Given the description of an element on the screen output the (x, y) to click on. 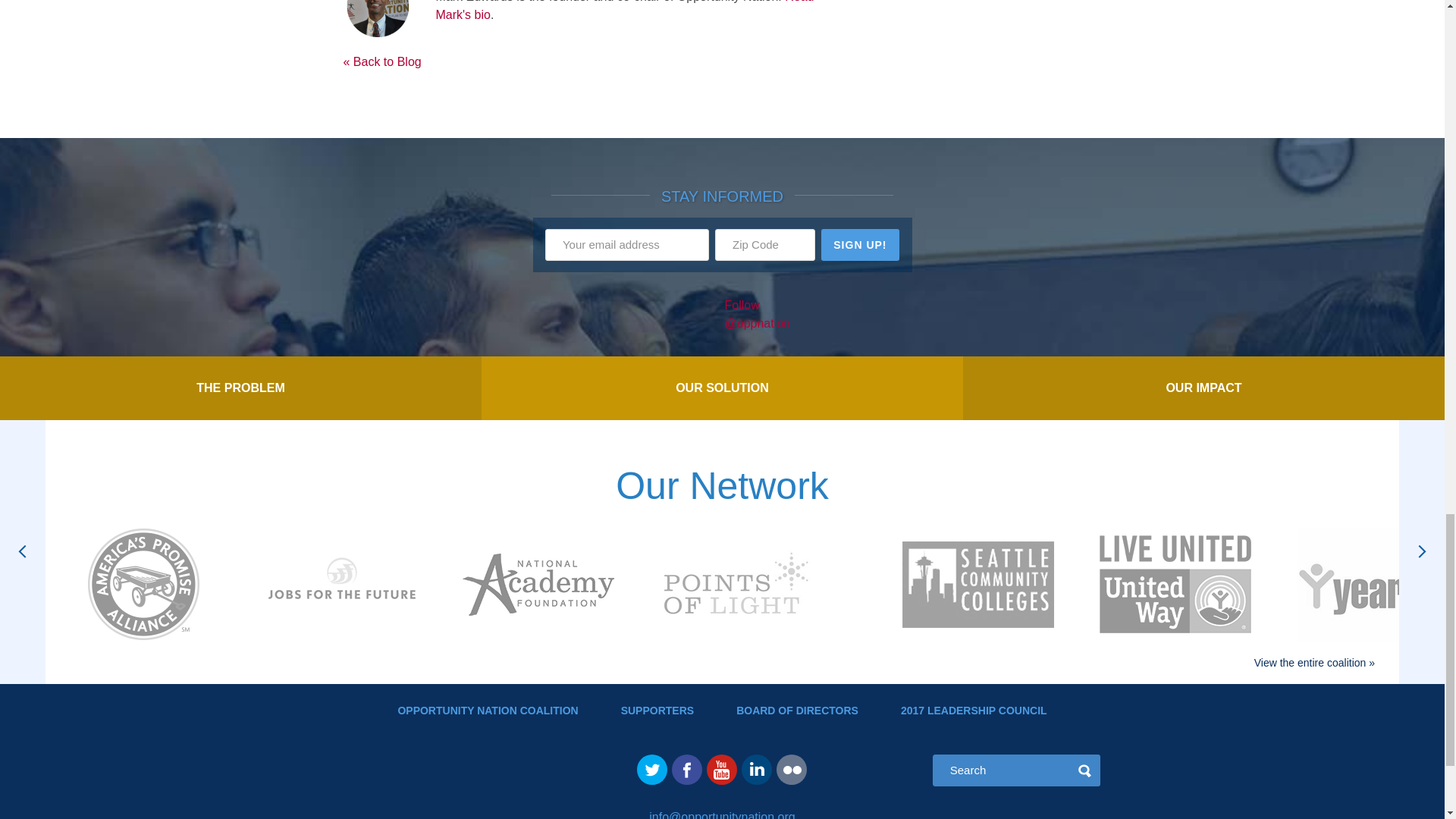
Jobs for the Future (340, 587)
National Academy Foundation (538, 587)
Points of Light (734, 587)
Seattle Community Colleges (978, 587)
United Way (1174, 587)
Sign up! (860, 245)
